Given the description of an element on the screen output the (x, y) to click on. 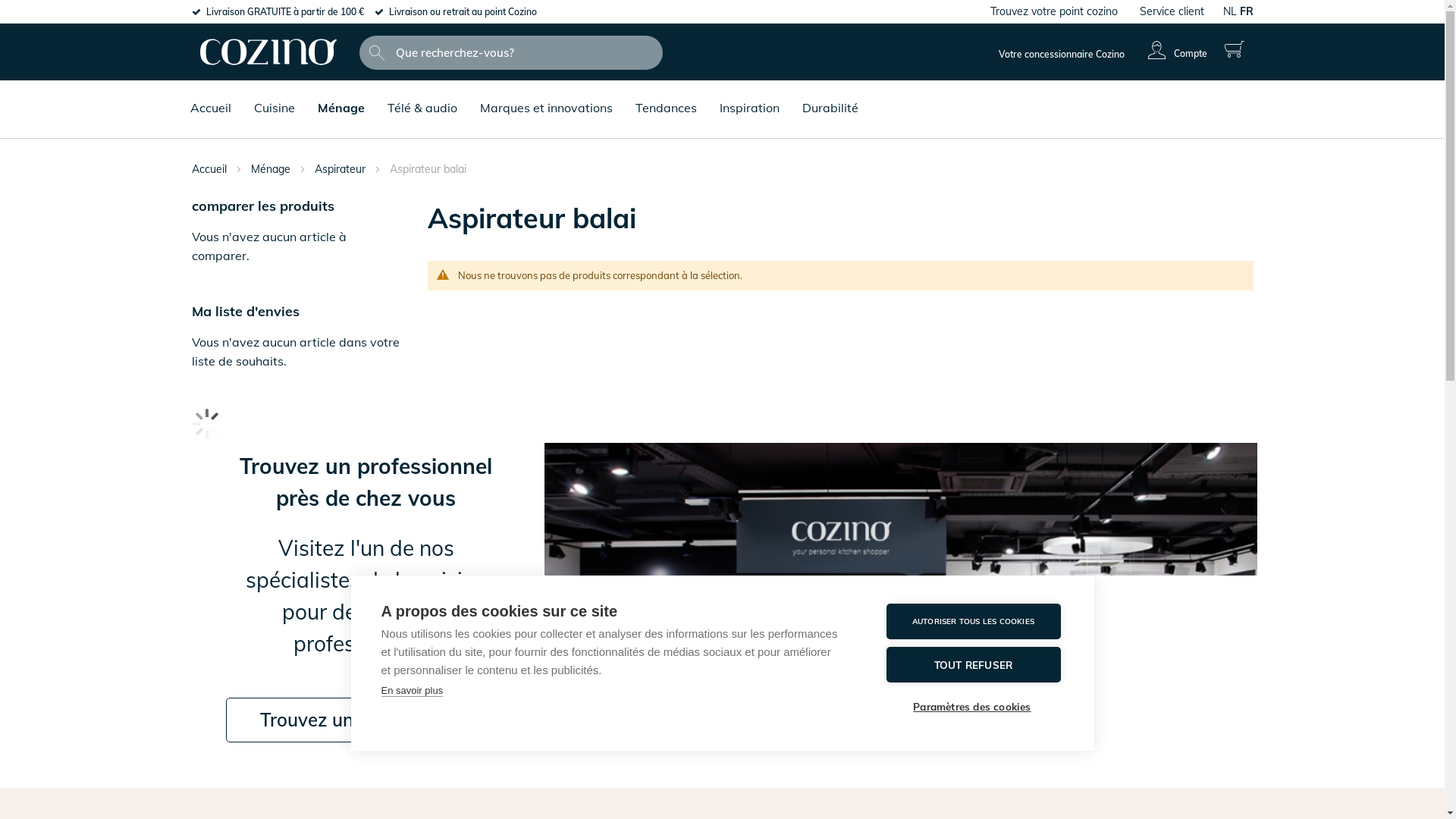
Inspiration Element type: text (748, 97)
Cuisine Element type: text (273, 97)
Tendances Element type: text (665, 97)
NL Element type: text (1229, 11)
Compte Element type: text (1175, 49)
Livraison ou retrait au point Cozino Element type: text (462, 11)
AUTORISER TOUS LES COOKIES Element type: text (972, 621)
Aspirateur Element type: text (340, 168)
Mon panier Element type: text (1230, 49)
Votre concessionnaire Cozino Element type: text (1061, 53)
Service client Element type: text (1171, 11)
Trouvez un professionnel Element type: text (365, 719)
Trouvez votre point cozino Element type: text (1053, 11)
Accueil Element type: hover (210, 97)
TOUT REFUSER Element type: text (972, 664)
Accueil Element type: text (210, 168)
En savoir plus Element type: text (411, 690)
Chercher Element type: text (376, 52)
Marques et innovations Element type: text (545, 97)
